Given the description of an element on the screen output the (x, y) to click on. 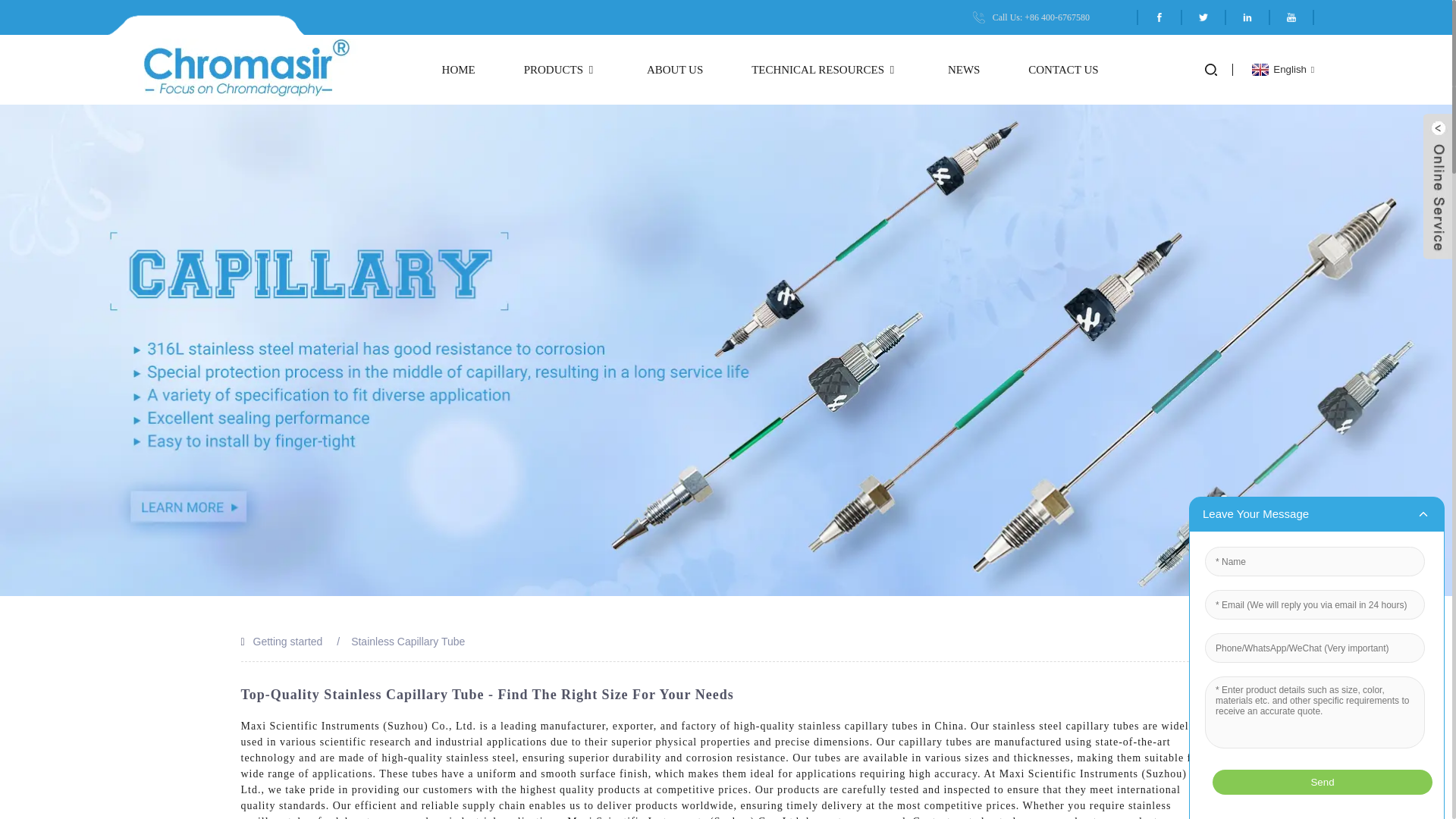
ABOUT US (674, 69)
TECHNICAL RESOURCES (825, 69)
Getting started (288, 641)
PRODUCTS (561, 69)
NEWS (963, 69)
Stainless Capillary Tube (407, 641)
CONTACT US (1062, 69)
English (1280, 69)
HOME (459, 69)
